Given the description of an element on the screen output the (x, y) to click on. 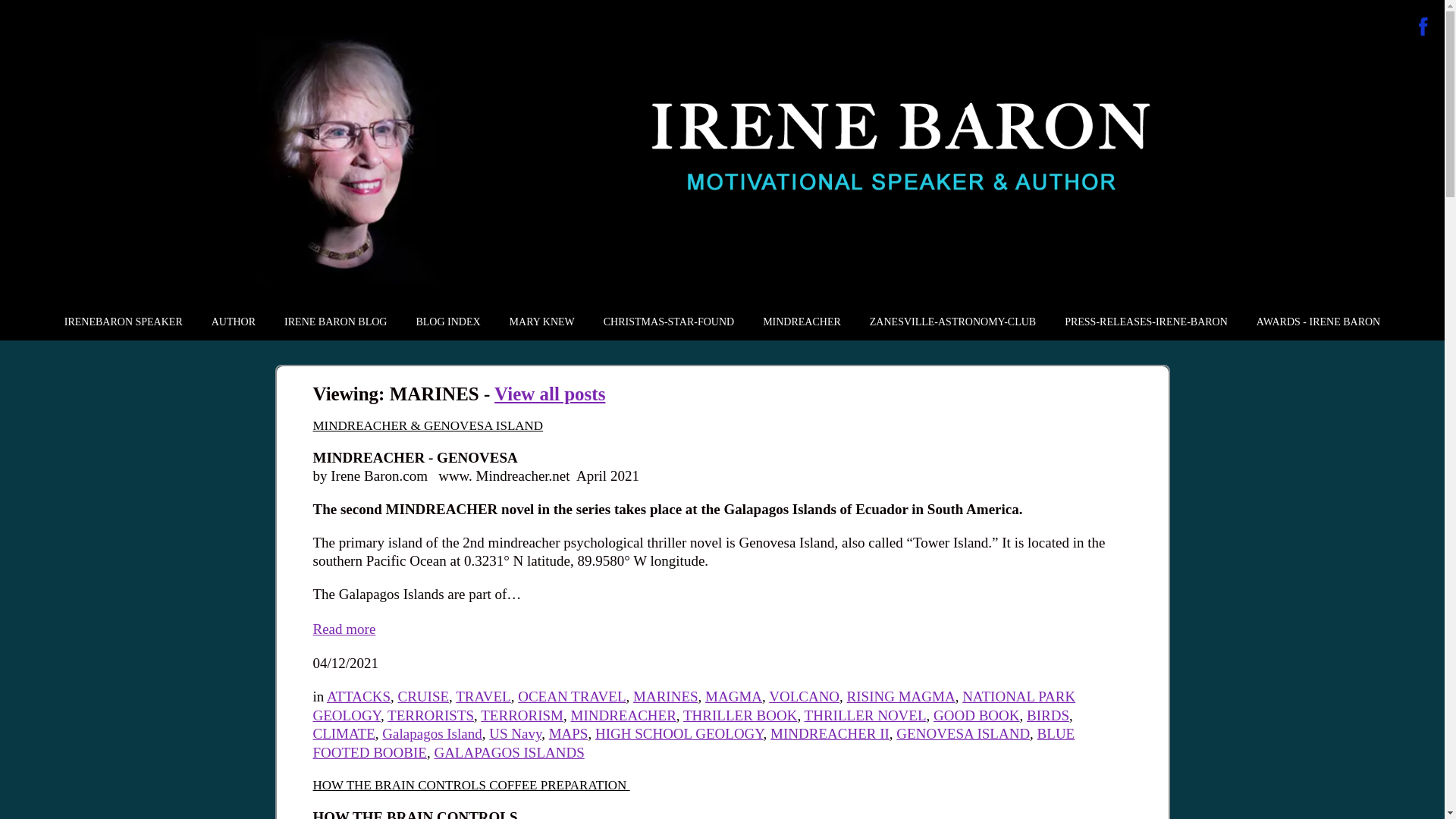
April 12, 2021 21:49 (345, 662)
IRENE BARON BLOG (335, 321)
BLOG INDEX (447, 321)
AUTHOR (233, 321)
MARY KNEW (542, 321)
IRENEBARON SPEAKER (123, 321)
